Given the description of an element on the screen output the (x, y) to click on. 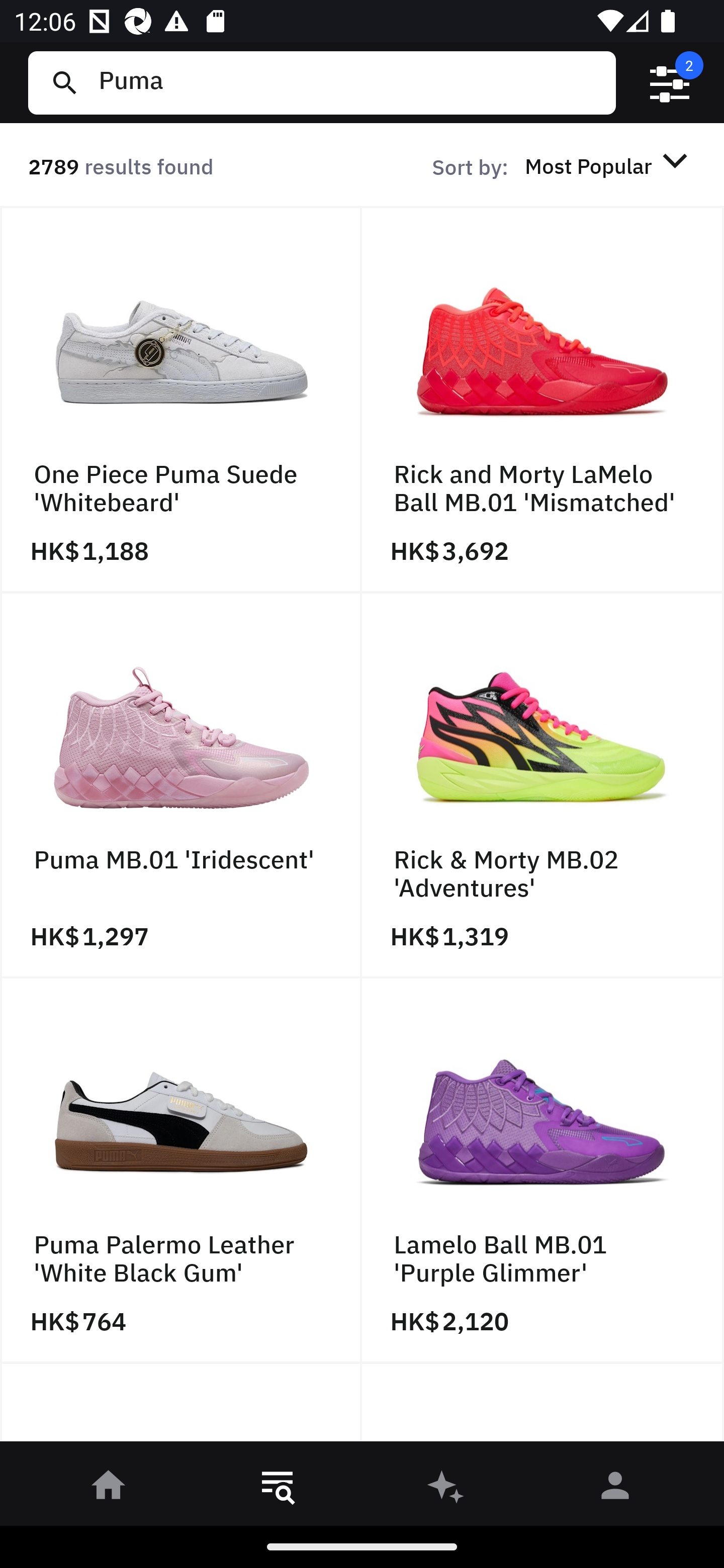
Puma (349, 82)
 (669, 82)
Most Popular  (609, 165)
One Piece Puma Suede 'Whitebeard' HK$ 1,188 (181, 399)
Puma MB.01 'Iridescent' HK$ 1,297 (181, 785)
Rick & Morty MB.02 'Adventures' HK$ 1,319 (543, 785)
Puma Palermo Leather 'White Black Gum' HK$ 764 (181, 1171)
Lamelo Ball MB.01 'Purple Glimmer' HK$ 2,120 (543, 1171)
󰋜 (108, 1488)
󱎸 (277, 1488)
󰫢 (446, 1488)
󰀄 (615, 1488)
